Given the description of an element on the screen output the (x, y) to click on. 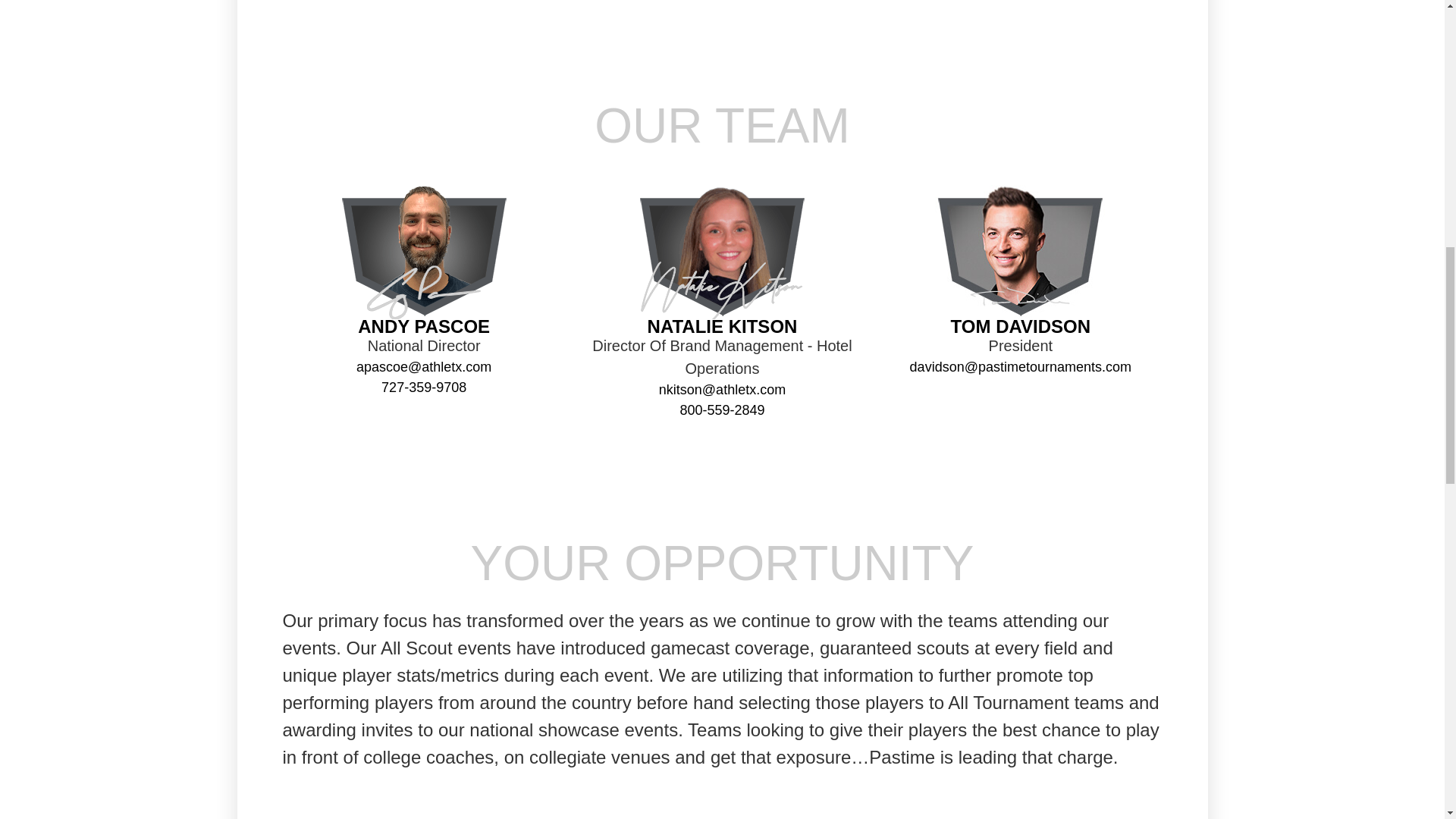
727-359-9708 (423, 387)
